Given the description of an element on the screen output the (x, y) to click on. 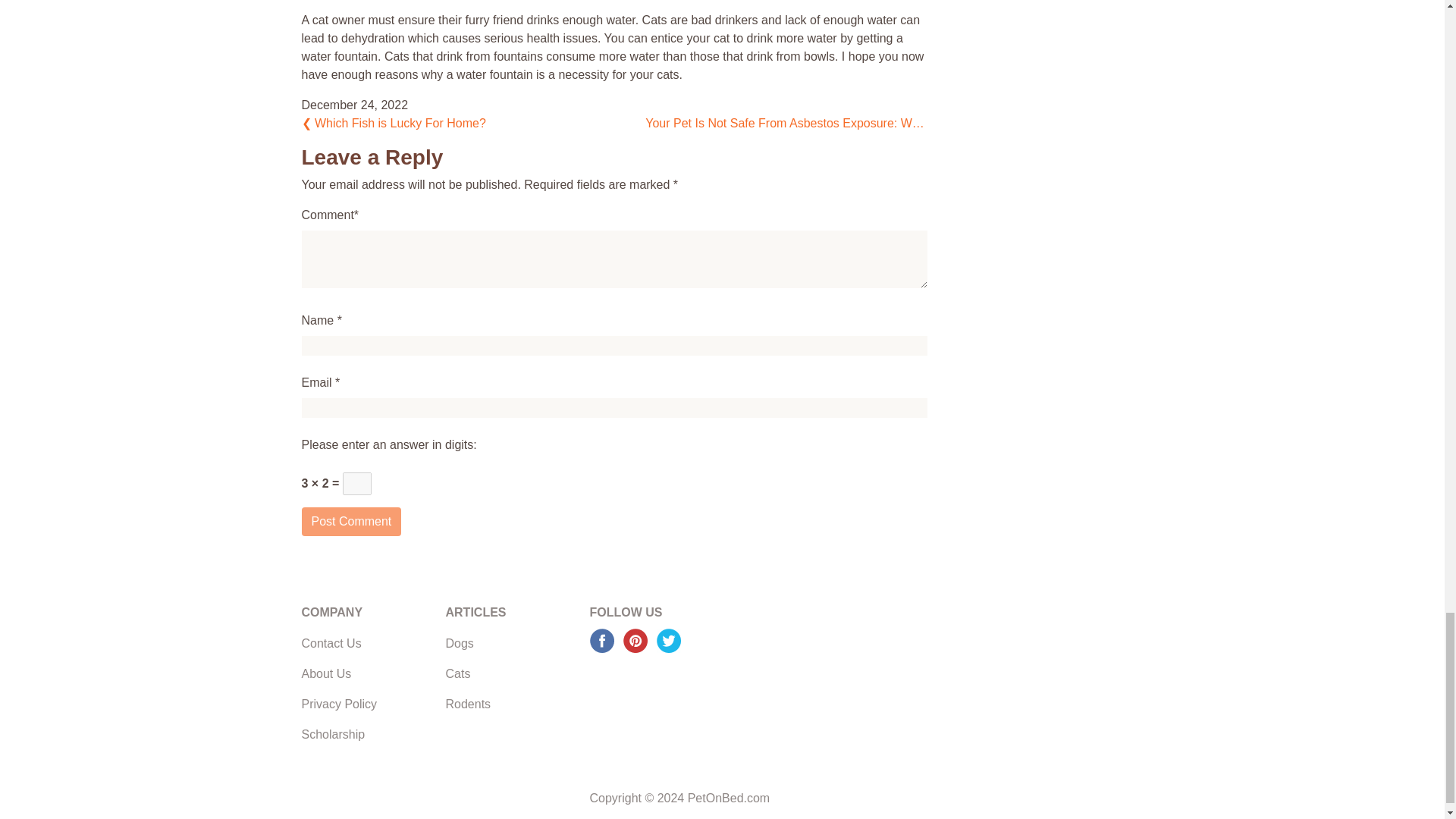
DMCA.com Protection Status (702, 719)
Post Comment (351, 521)
